Given the description of an element on the screen output the (x, y) to click on. 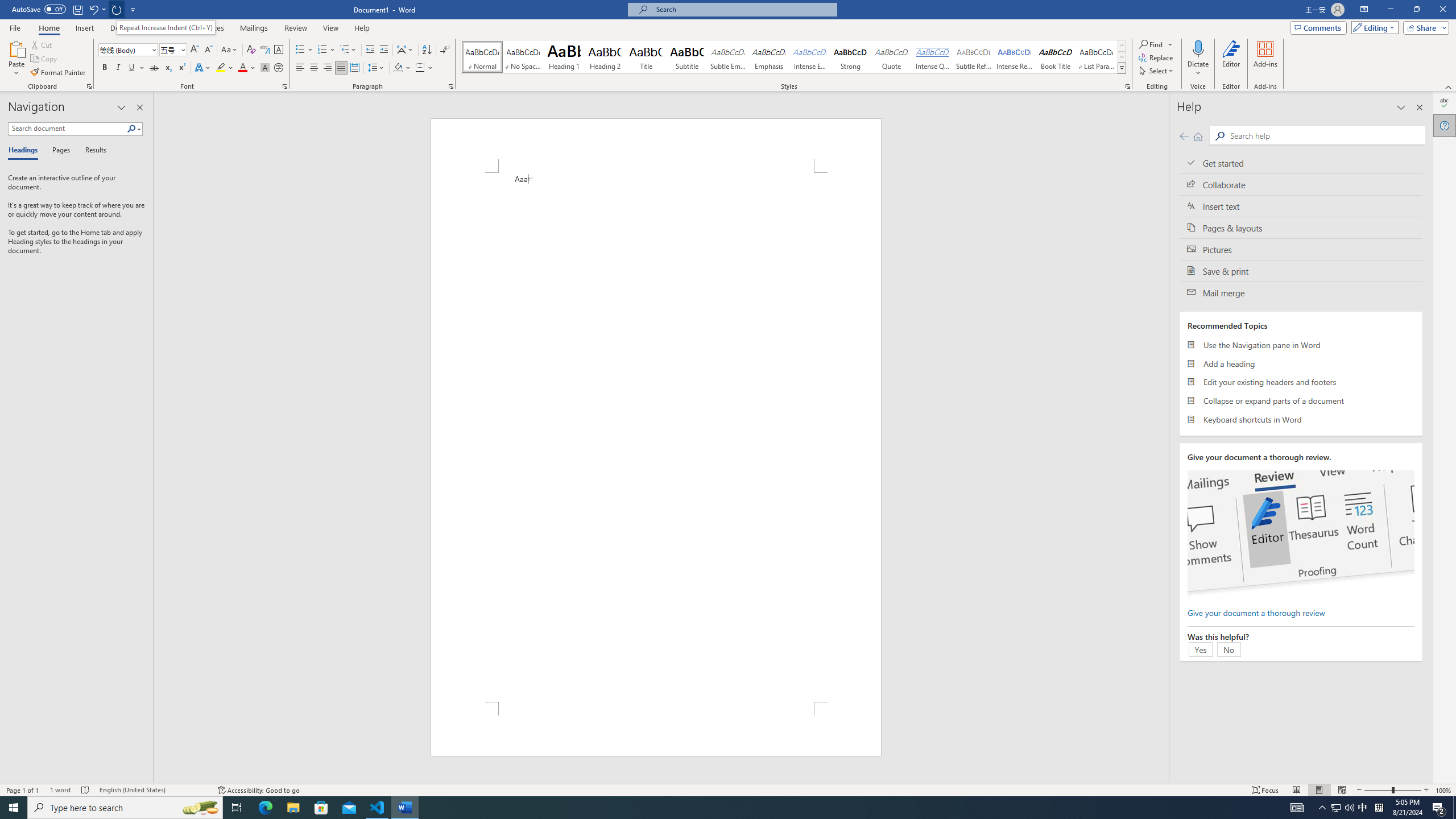
Previous page (1183, 136)
Heading 1 (564, 56)
Quote (891, 56)
Book Title (1055, 56)
No (1228, 649)
Get started (1300, 162)
Repeat Increase Indent (Ctrl+Y) (165, 27)
